Given the description of an element on the screen output the (x, y) to click on. 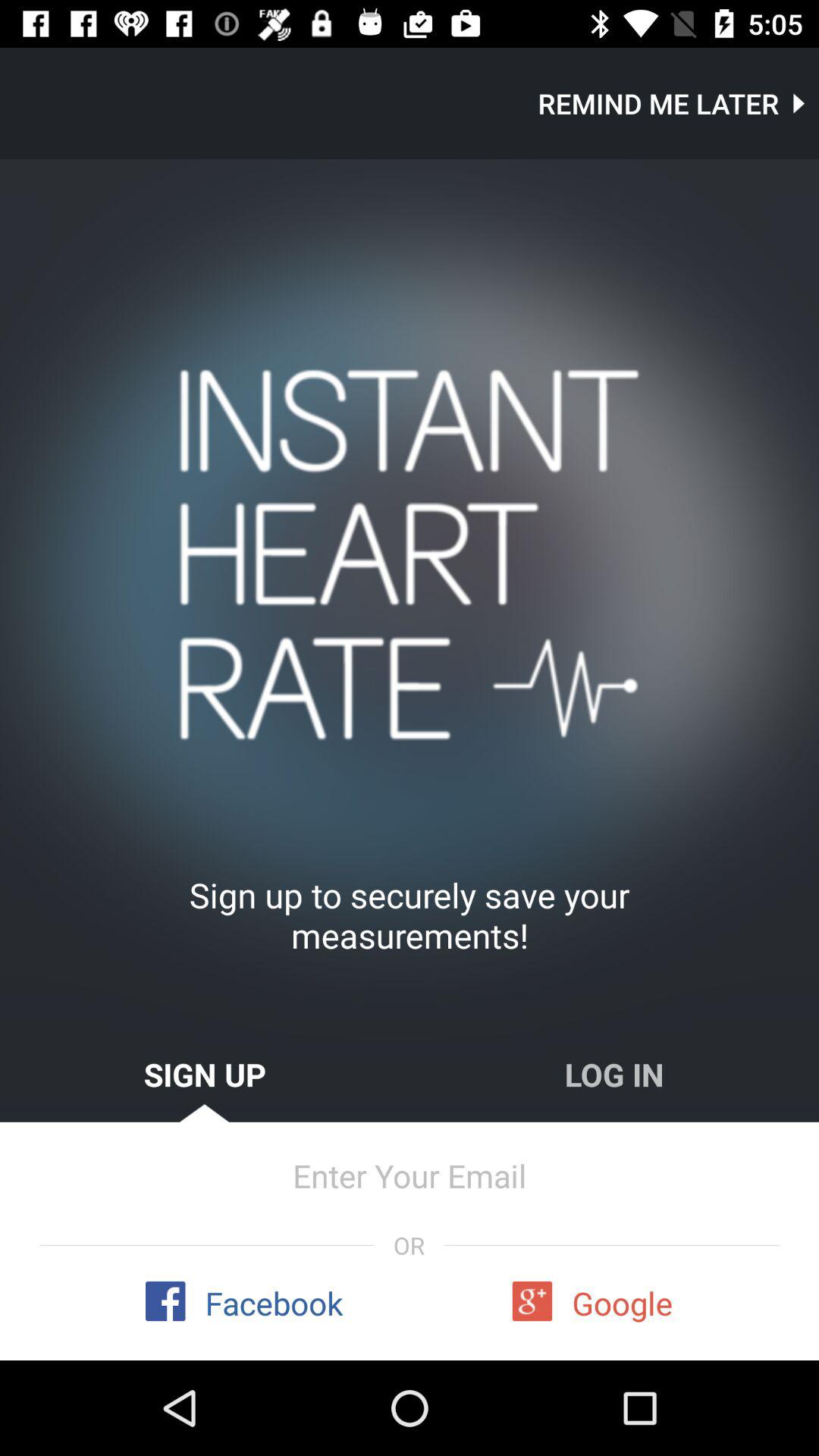
turn off the remind me later (678, 103)
